Given the description of an element on the screen output the (x, y) to click on. 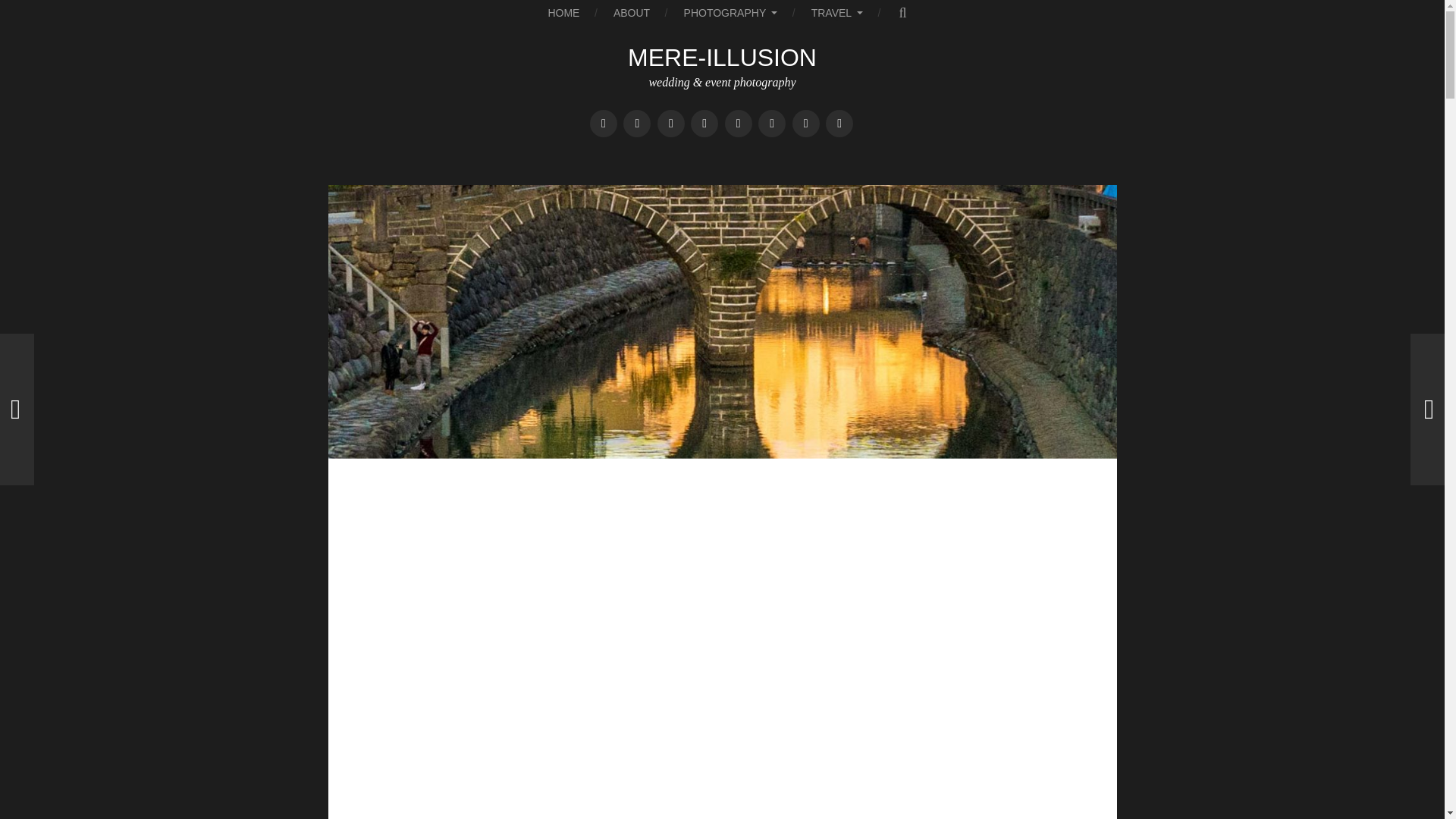
ABOUT (630, 12)
HOME (563, 12)
TRAVEL (836, 12)
PHOTOGRAPHY (730, 12)
